Given the description of an element on the screen output the (x, y) to click on. 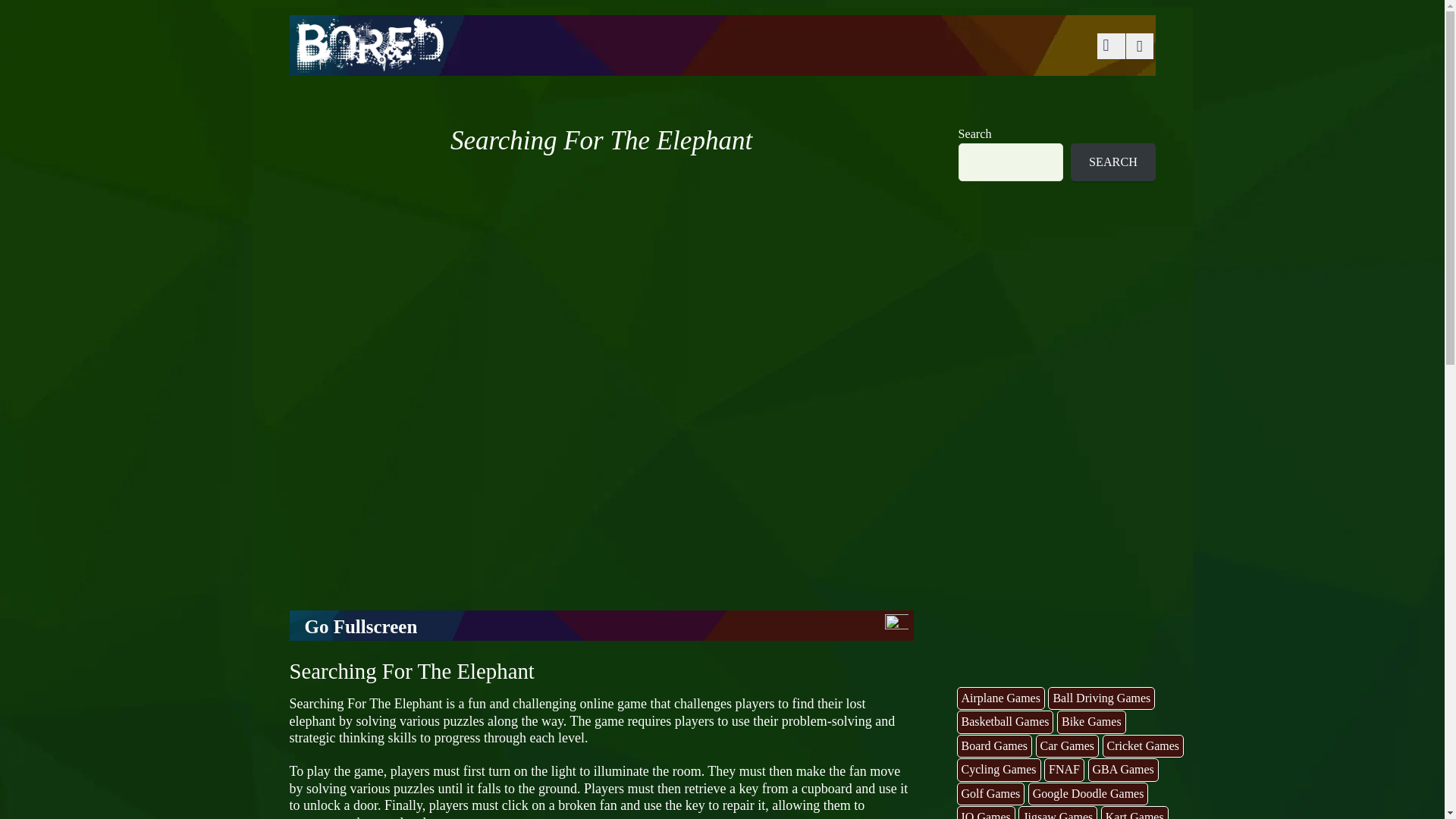
Airplane Games (1000, 698)
Board Games (994, 746)
Bored (368, 62)
Basketball Games (1005, 721)
Ball Driving Games (1101, 698)
Bike Games (1091, 721)
SEARCH (1112, 161)
